Given the description of an element on the screen output the (x, y) to click on. 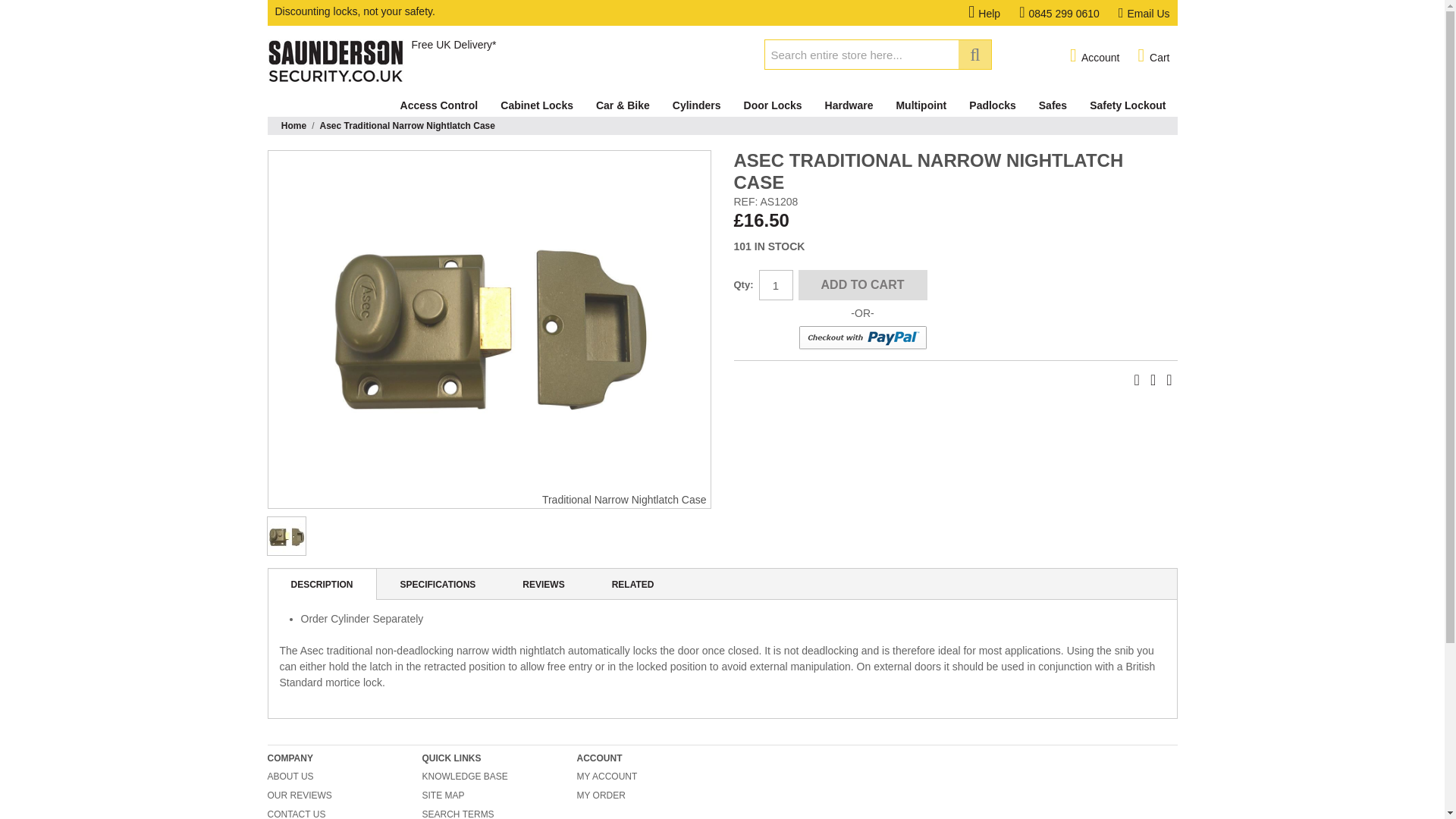
Search (974, 54)
Cart (1152, 55)
Traditional Narrow Nightlatch Case (488, 321)
Add to Cart (861, 285)
Cabinet Locks (537, 105)
Email Us (1144, 13)
Account (1094, 55)
Traditional Narrow Nightlatch Case (285, 536)
Go to Home Page (293, 126)
Qty (775, 285)
Access Control (438, 105)
Help (993, 13)
1 (775, 285)
Checkout with PayPal (861, 337)
Help (993, 13)
